Given the description of an element on the screen output the (x, y) to click on. 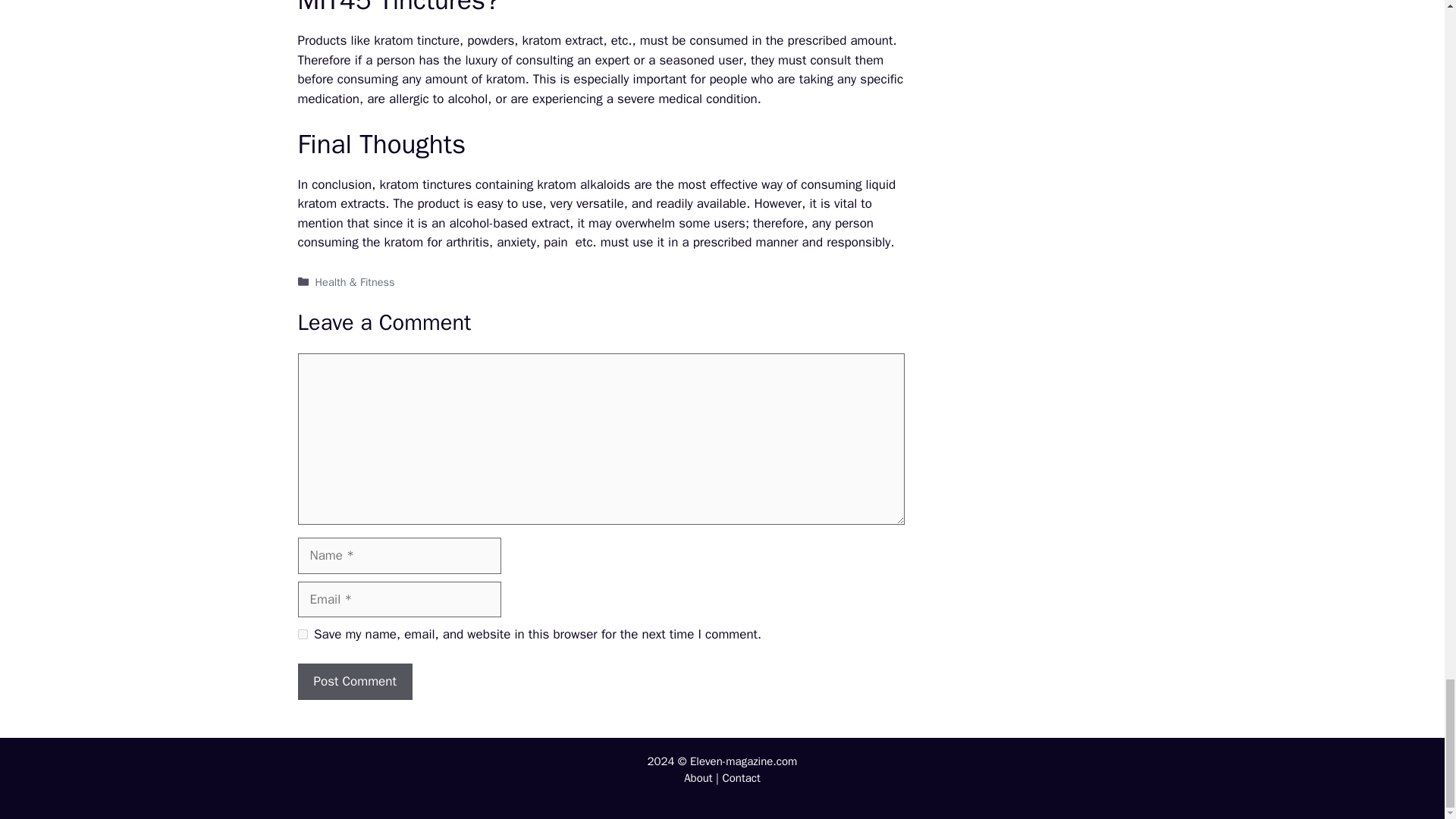
About (697, 777)
Post Comment (354, 681)
yes (302, 634)
Post Comment (354, 681)
kratom for arthritis (436, 242)
